Given the description of an element on the screen output the (x, y) to click on. 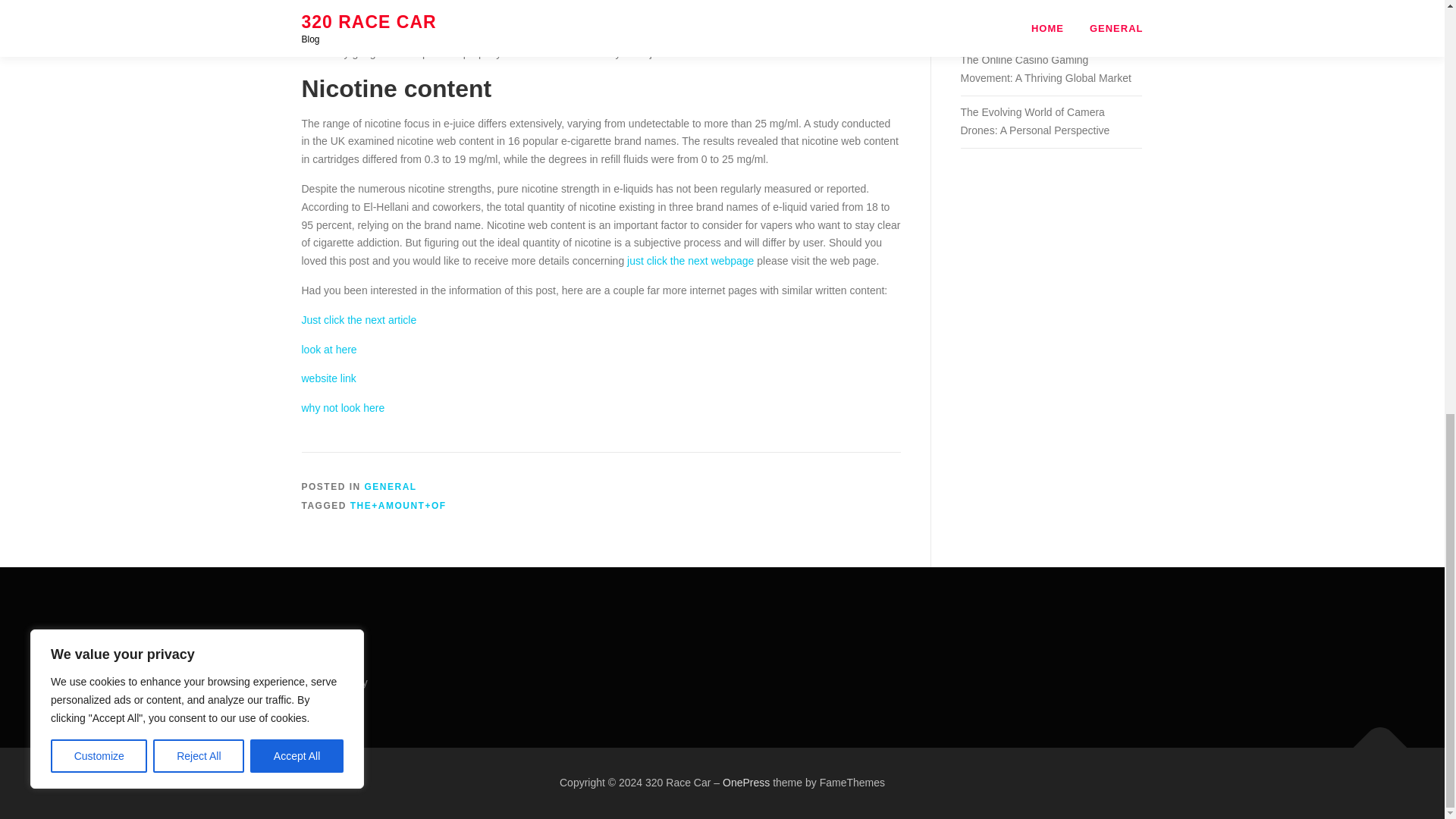
Back To Top (1372, 740)
just click the next webpage (690, 260)
look at here (328, 349)
GENERAL (390, 486)
Just click the next article (358, 319)
website link (328, 378)
why not look here (343, 408)
